Given the description of an element on the screen output the (x, y) to click on. 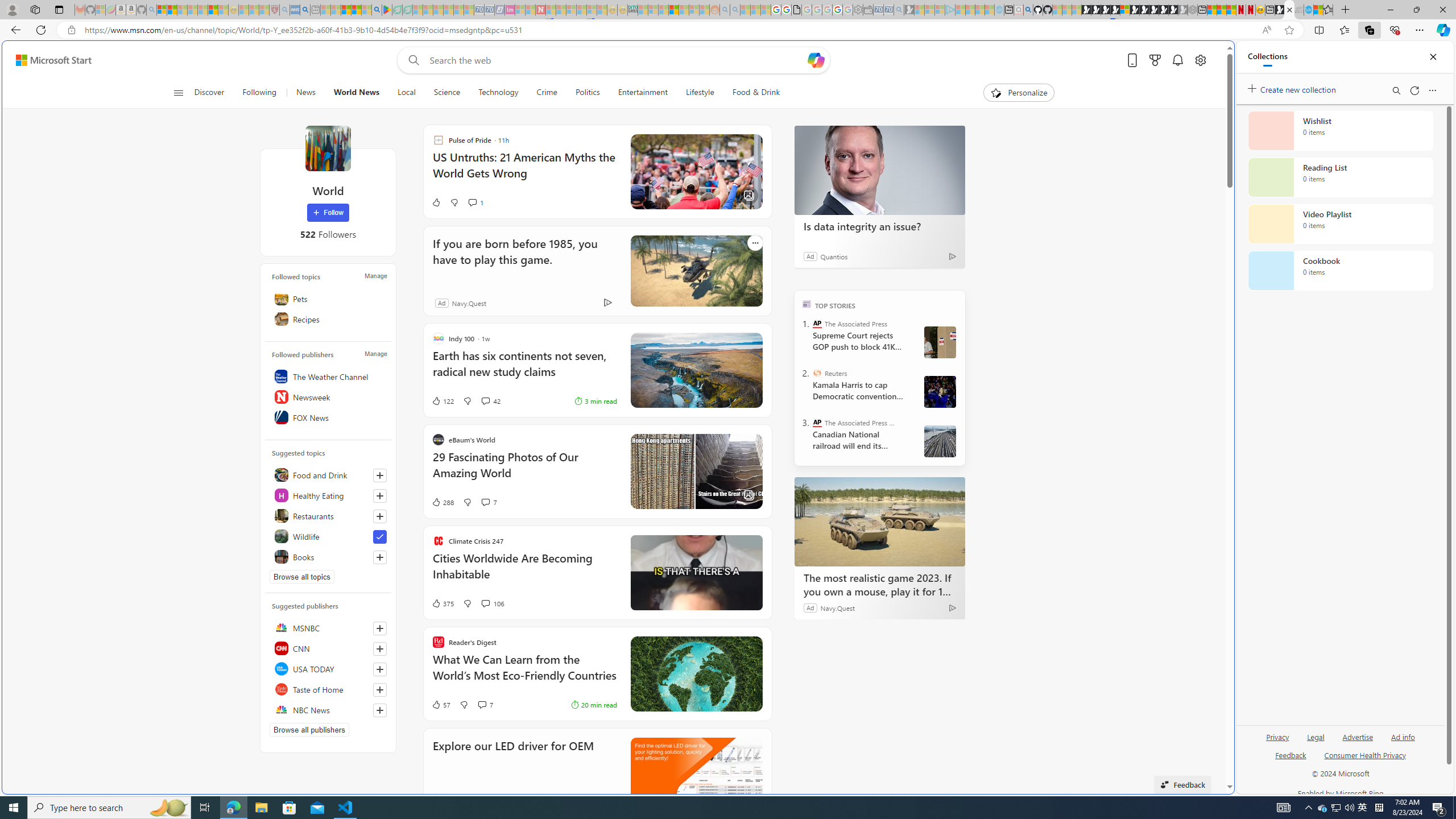
If you are born before 1985, you have to play this game. (521, 259)
github - Search (1028, 9)
View comments 106 Comment (492, 603)
Video Playlist collection, 0 items (1339, 223)
